Given the description of an element on the screen output the (x, y) to click on. 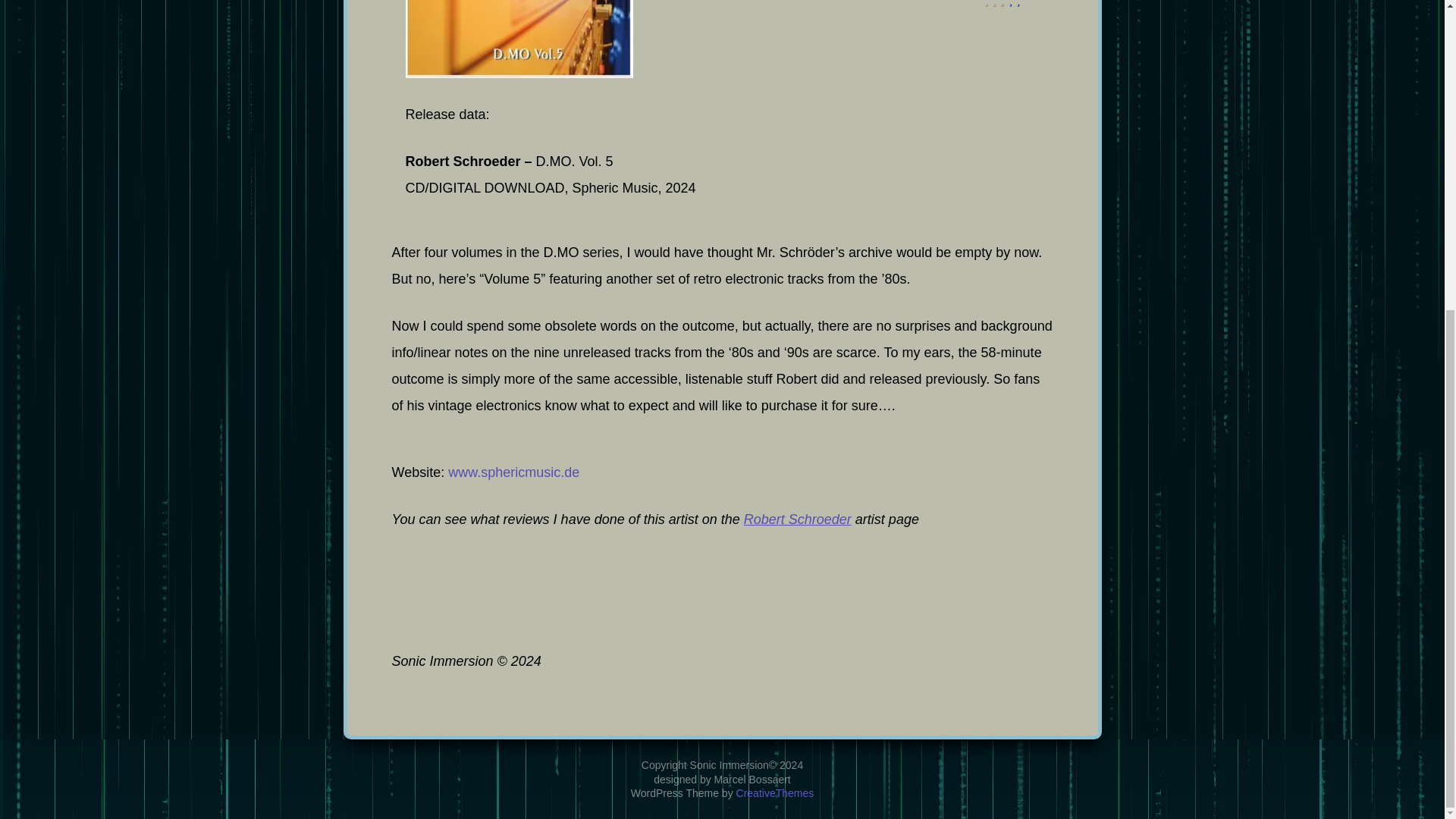
Robert Schroeder (797, 519)
www.sphericmusic.de (513, 472)
CreativeThemes (774, 300)
